Given the description of an element on the screen output the (x, y) to click on. 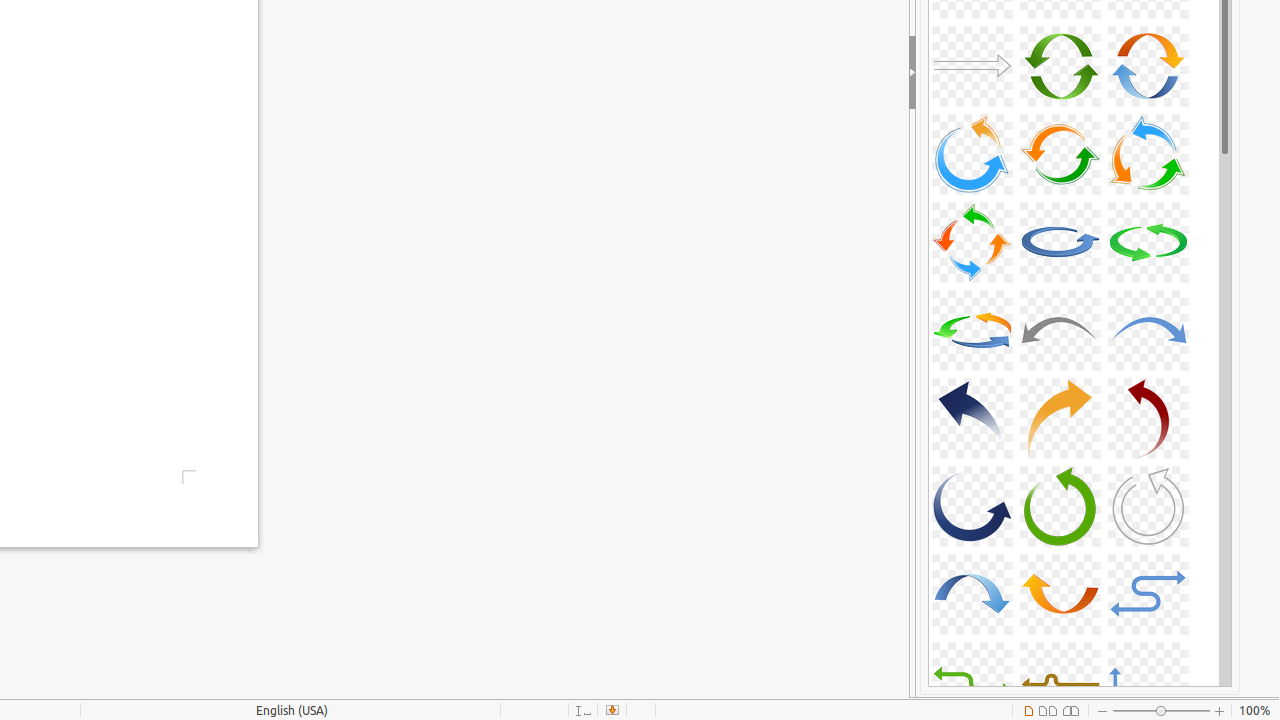
A26-CurvedArrow-Orange Element type: list-item (1060, 417)
A23-CurvedArrow-Gray-Left Element type: list-item (1060, 330)
A21-CircleArrow-Green Element type: list-item (1148, 242)
A14-CircleArrow-Green Element type: list-item (1060, 65)
A29-CurvedArrow-Green Element type: list-item (1060, 506)
